Given the description of an element on the screen output the (x, y) to click on. 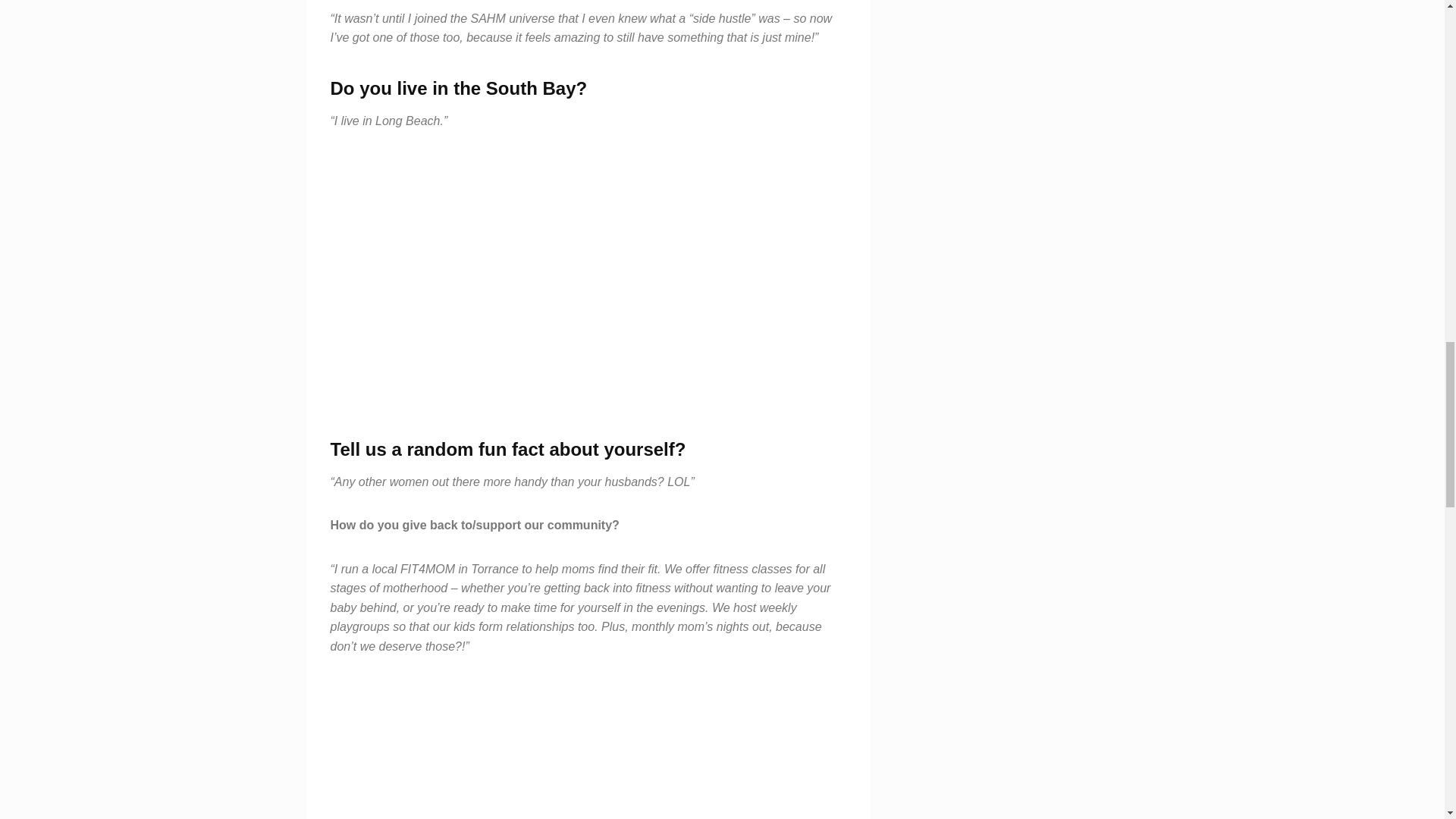
Moms Making A Difference: Natalie Croswell 2 (587, 281)
Moms Making A Difference: Natalie Croswell 3 (587, 749)
